Given the description of an element on the screen output the (x, y) to click on. 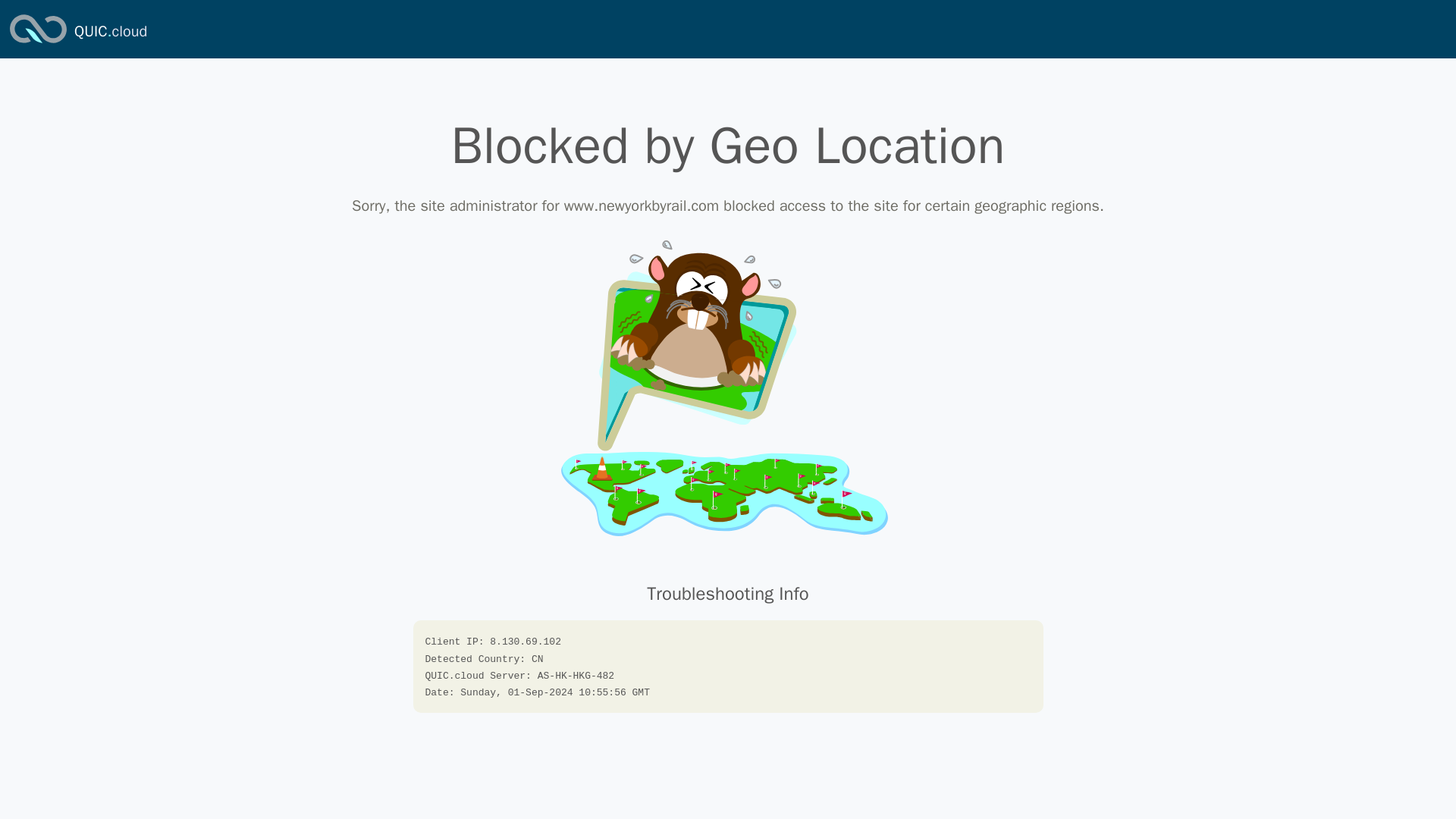
QUIC.cloud (110, 31)
QUIC.cloud (110, 31)
QUIC.cloud (37, 43)
